Given the description of an element on the screen output the (x, y) to click on. 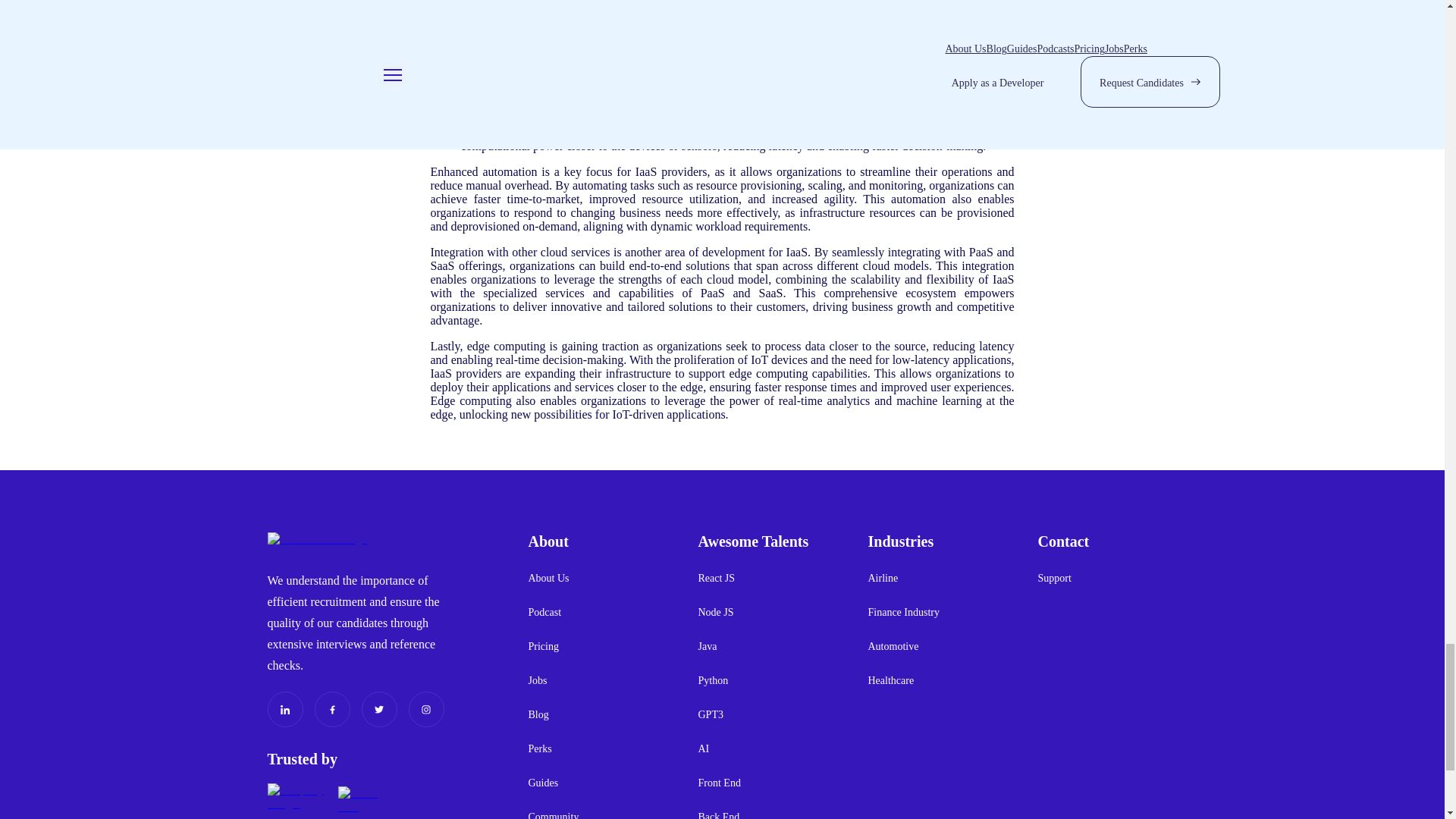
About Us (548, 578)
React JS (716, 578)
Perks (539, 748)
Podcast (543, 611)
Guides (542, 782)
Jobs (537, 680)
Pricing (542, 646)
Blog (537, 714)
Community (552, 814)
Node JS (715, 611)
